Given the description of an element on the screen output the (x, y) to click on. 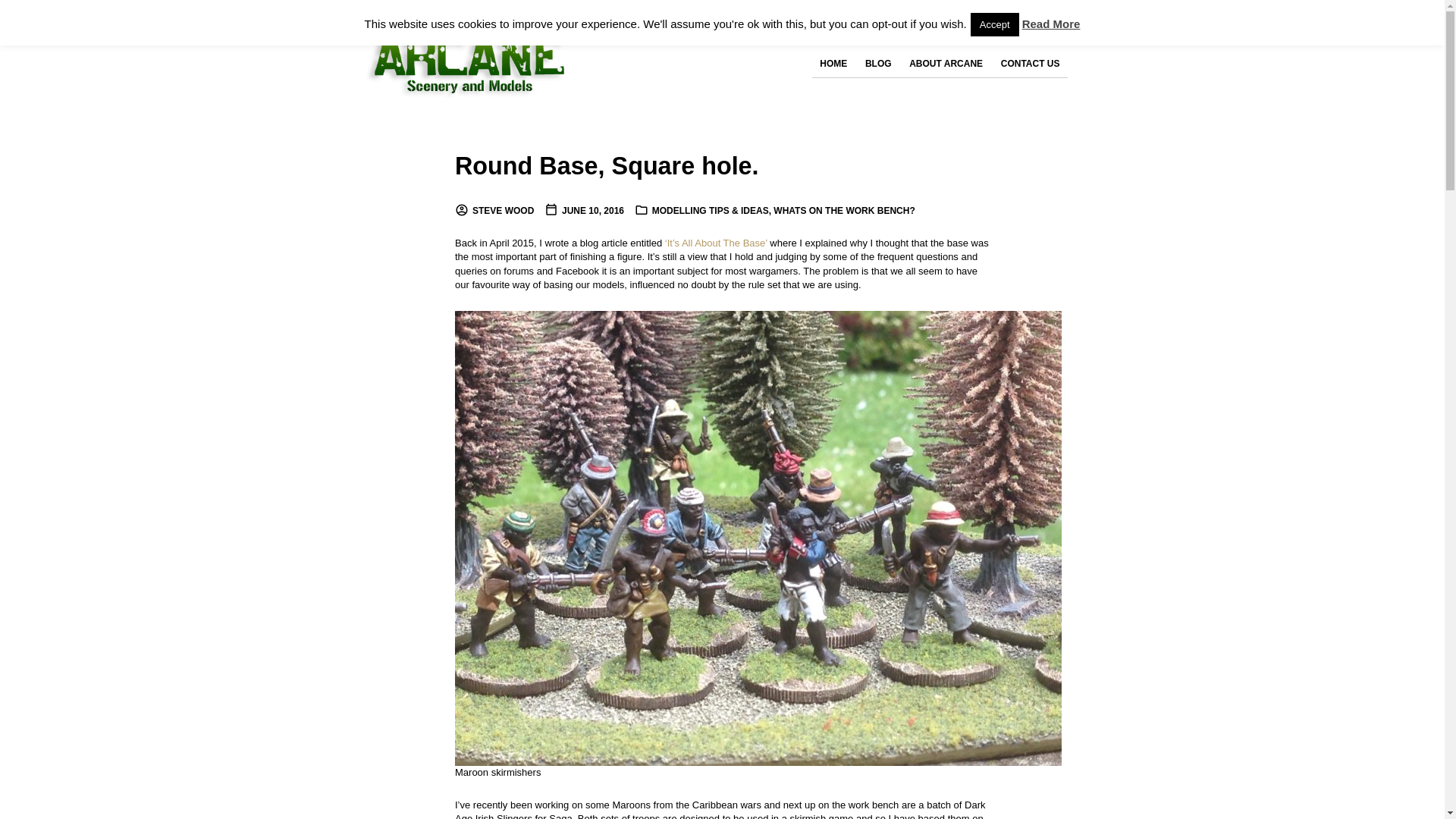
Round Base, Square hole. (606, 165)
WHATS ON THE WORK BENCH? (843, 210)
JUNE 10, 2016 (584, 210)
Accept (995, 24)
ABOUT ARCANE (945, 63)
View all posts by steve wood (494, 210)
BLOG (878, 63)
Read More (1051, 23)
CONTACT US (1029, 63)
HOME (833, 63)
9:12 am (584, 210)
Permalink to Round Base, Square hole. (606, 165)
STEVE WOOD (494, 210)
